Given the description of an element on the screen output the (x, y) to click on. 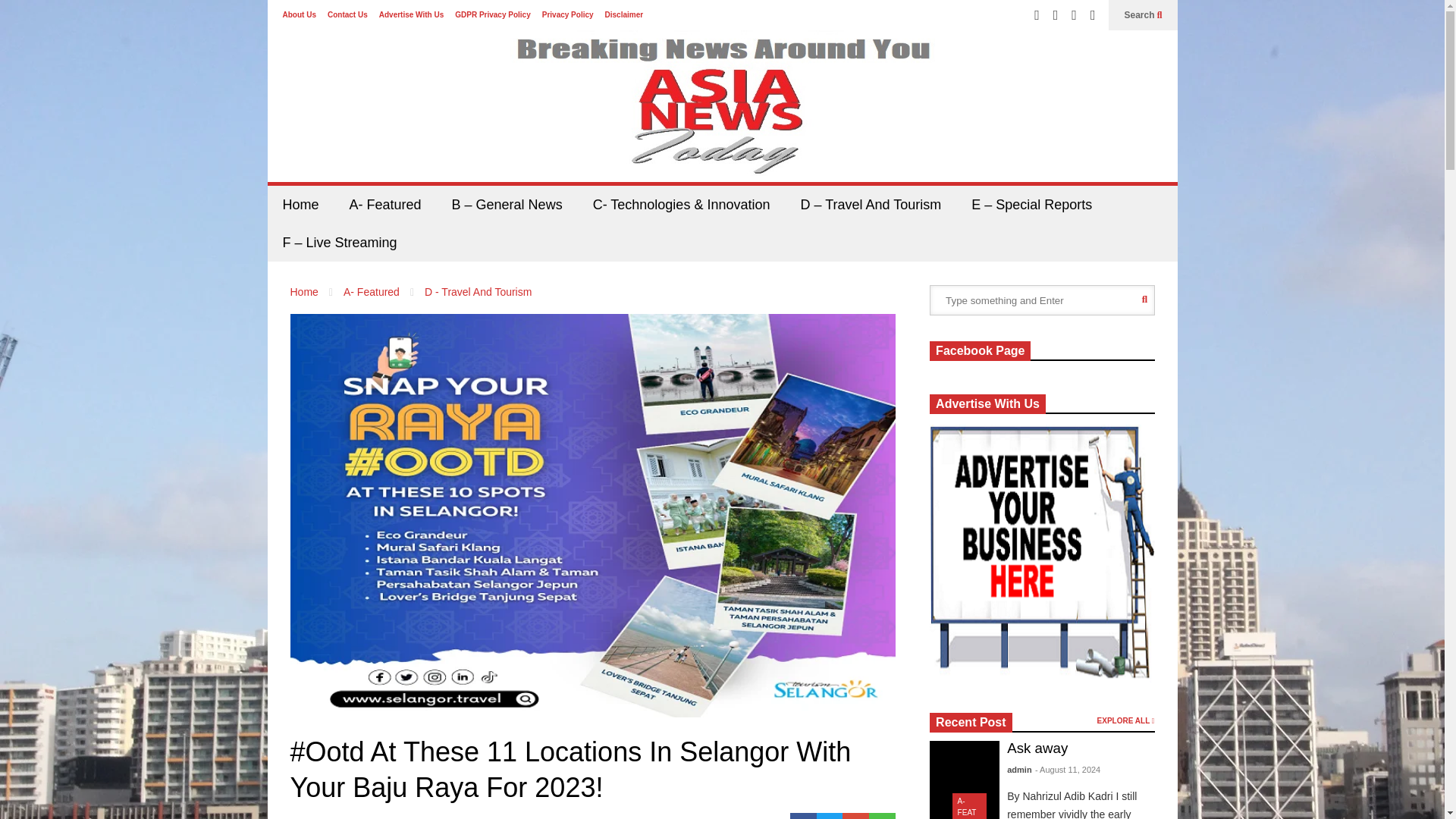
A- Featured (370, 291)
Twitter (829, 816)
Search (1142, 15)
GDPR Privacy Policy (492, 14)
Contact Us (347, 14)
Whatsapp (882, 816)
About Us (298, 14)
A- Featured (385, 204)
E-mail (856, 816)
Advertise With Us (411, 14)
